Given the description of an element on the screen output the (x, y) to click on. 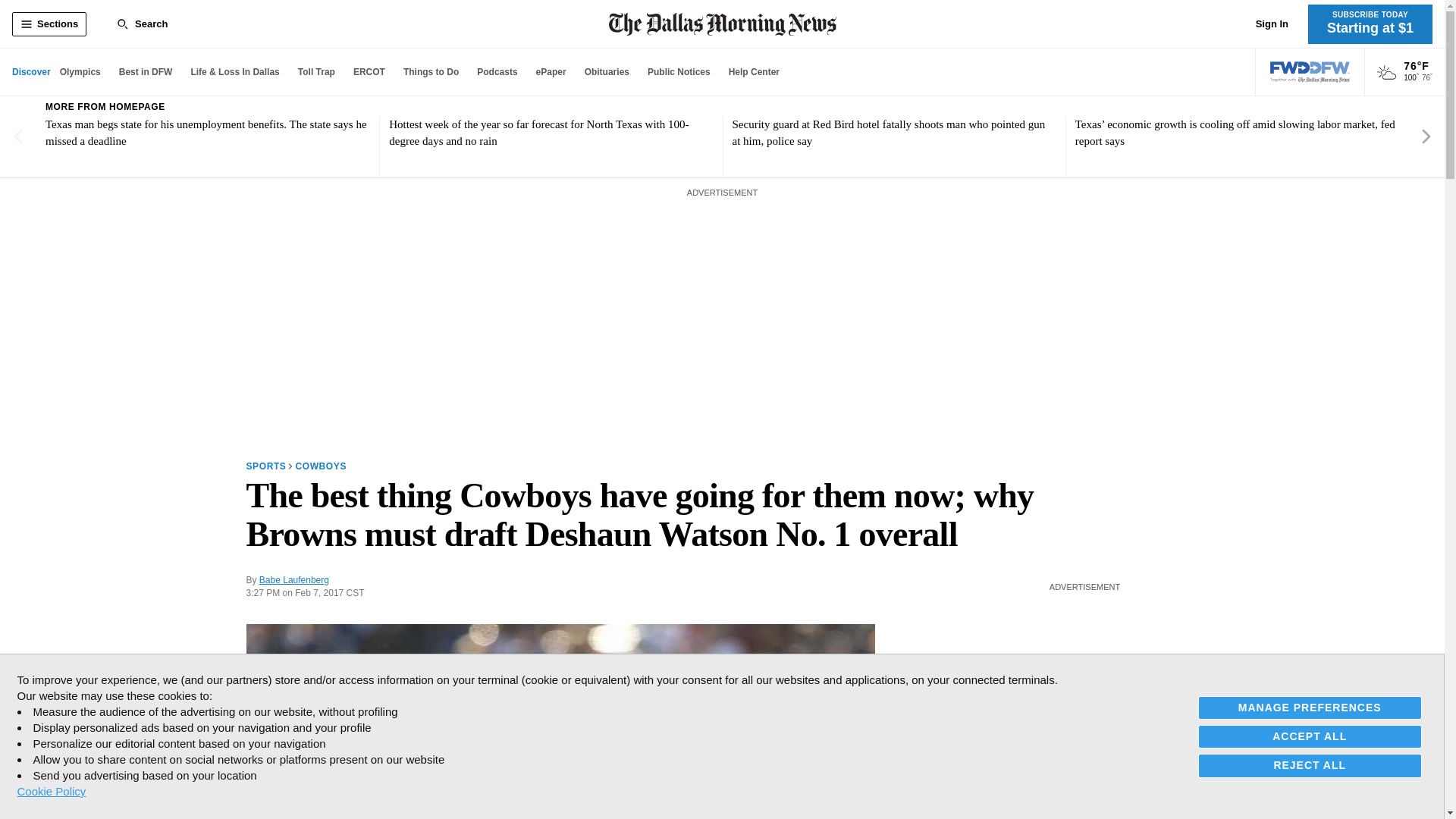
REJECT ALL (1310, 765)
Few clouds (1386, 72)
MANAGE PREFERENCES (1310, 707)
FWD DFW, Together with The Dallas Morning News (1310, 72)
Cookie Policy (50, 790)
ACCEPT ALL (1310, 736)
